Given the description of an element on the screen output the (x, y) to click on. 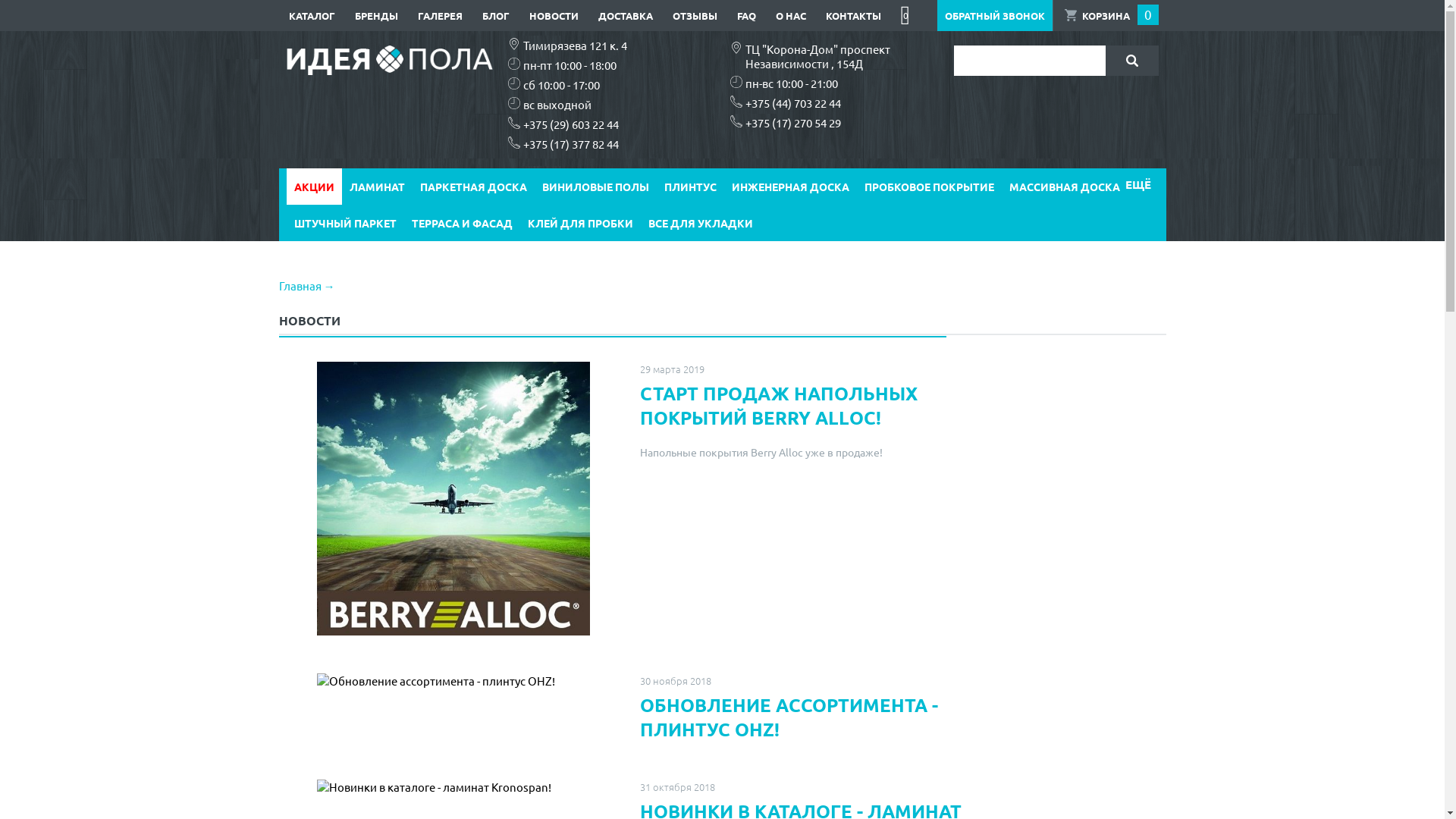
FAQ Element type: text (745, 15)
+375 (17) 377 82 44 Element type: text (570, 143)
+375 (29) 603 22 44 Element type: text (570, 123)
+375 (44) 703 22 44 Element type: text (792, 102)
+375 (17) 270 54 29 Element type: text (792, 122)
0 Element type: text (904, 15)
